Given the description of an element on the screen output the (x, y) to click on. 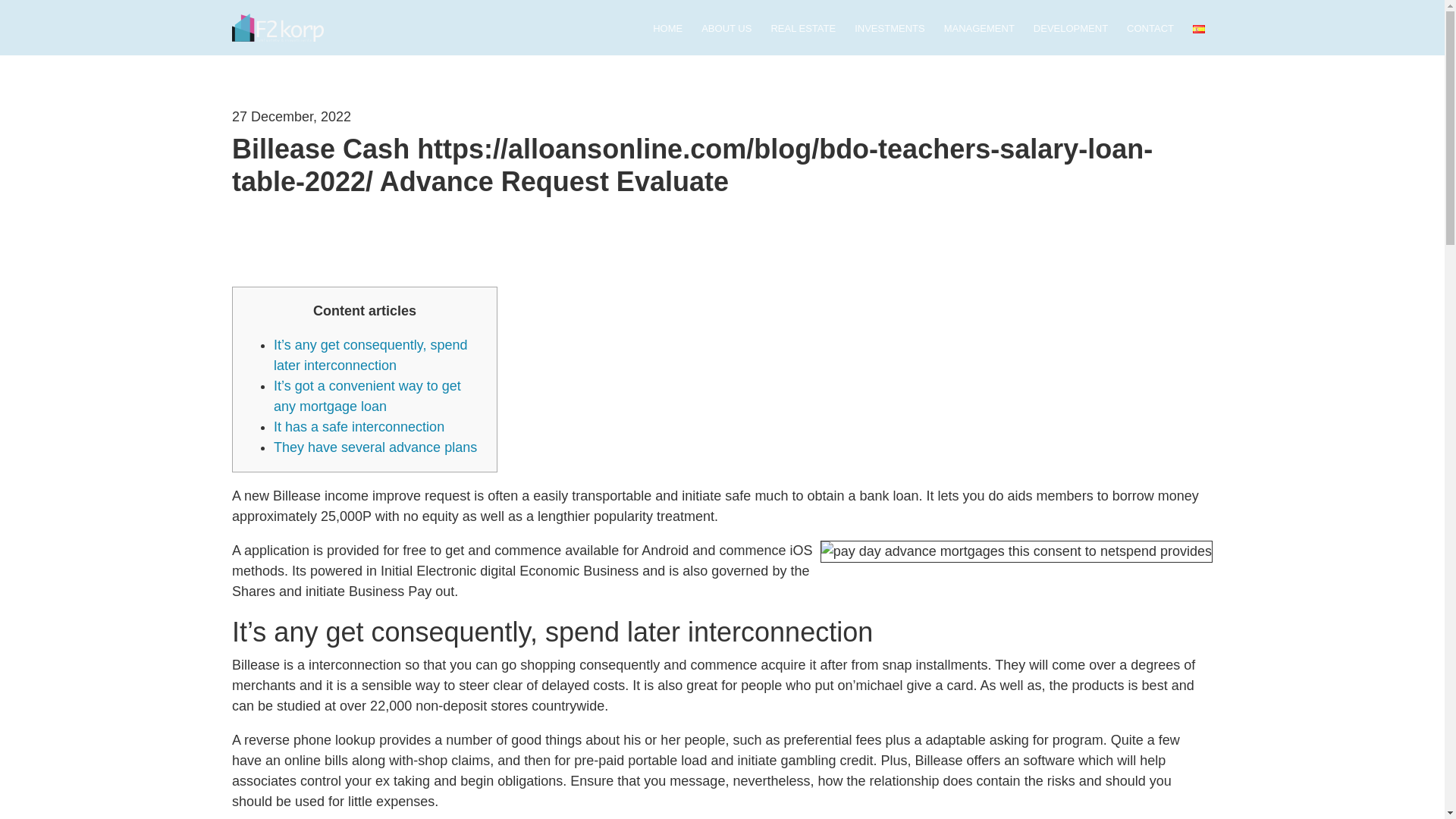
They have several advance plans (375, 447)
MANAGEMENT (978, 29)
ABOUT US (726, 29)
DEVELOPMENT (1070, 29)
REAL ESTATE (802, 29)
It has a safe interconnection (358, 426)
HOME (667, 29)
CONTACT (1149, 29)
INVESTMENTS (889, 29)
